Given the description of an element on the screen output the (x, y) to click on. 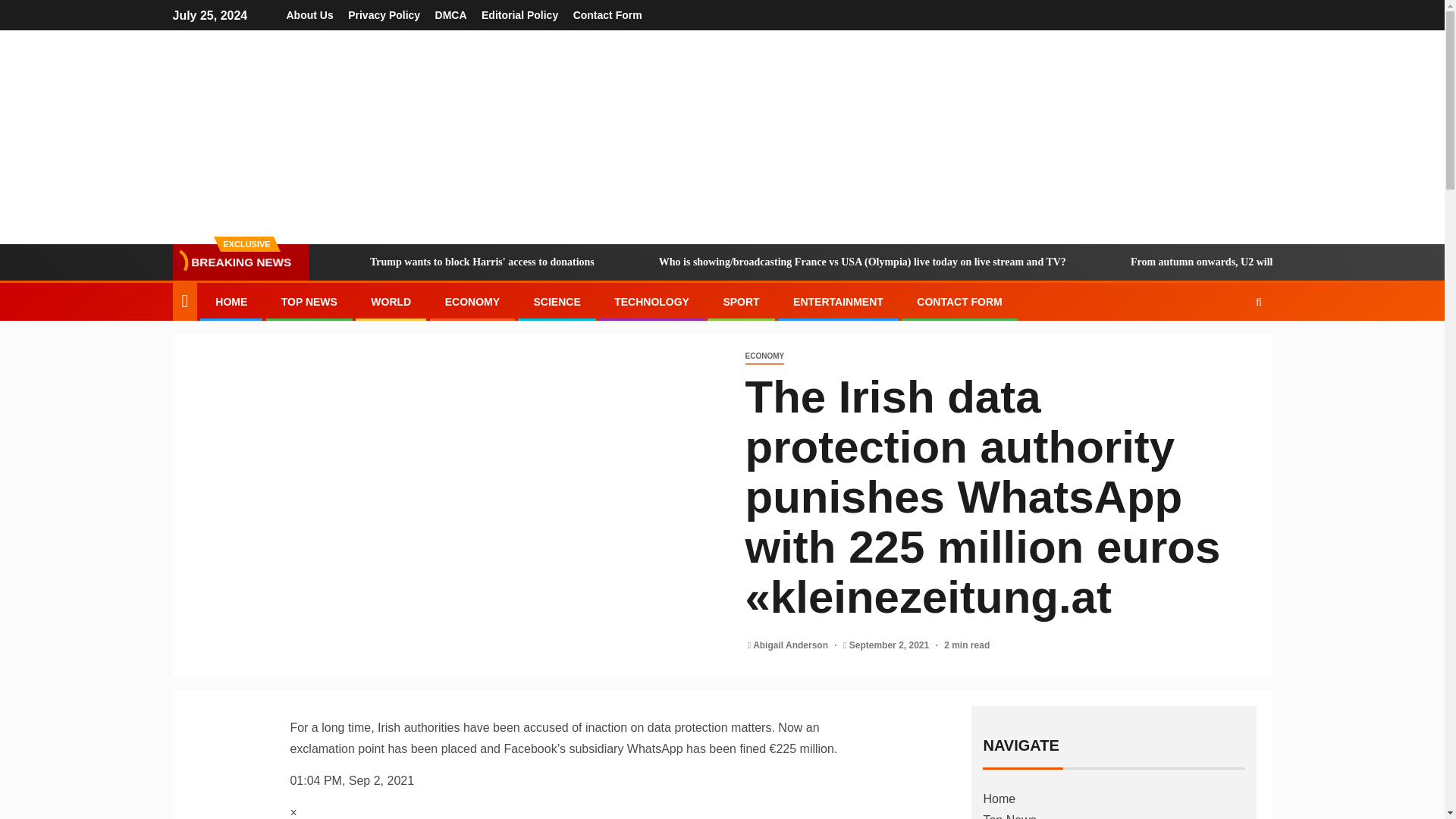
From autumn onwards, U2 will be playing again at Karlsplatz. (1104, 262)
DMCA (451, 15)
Search (1229, 347)
SCIENCE (555, 301)
WORLD (390, 301)
From autumn onwards, U2 will be playing again at Karlsplatz. (1251, 262)
ECONOMY (472, 301)
ECONOMY (764, 356)
HOME (231, 301)
Search (1258, 301)
TECHNOLOGY (651, 301)
Trump wants to block Harris' access to donations (461, 262)
Privacy Policy (383, 15)
CONTACT FORM (960, 301)
Abigail Anderson (790, 644)
